Given the description of an element on the screen output the (x, y) to click on. 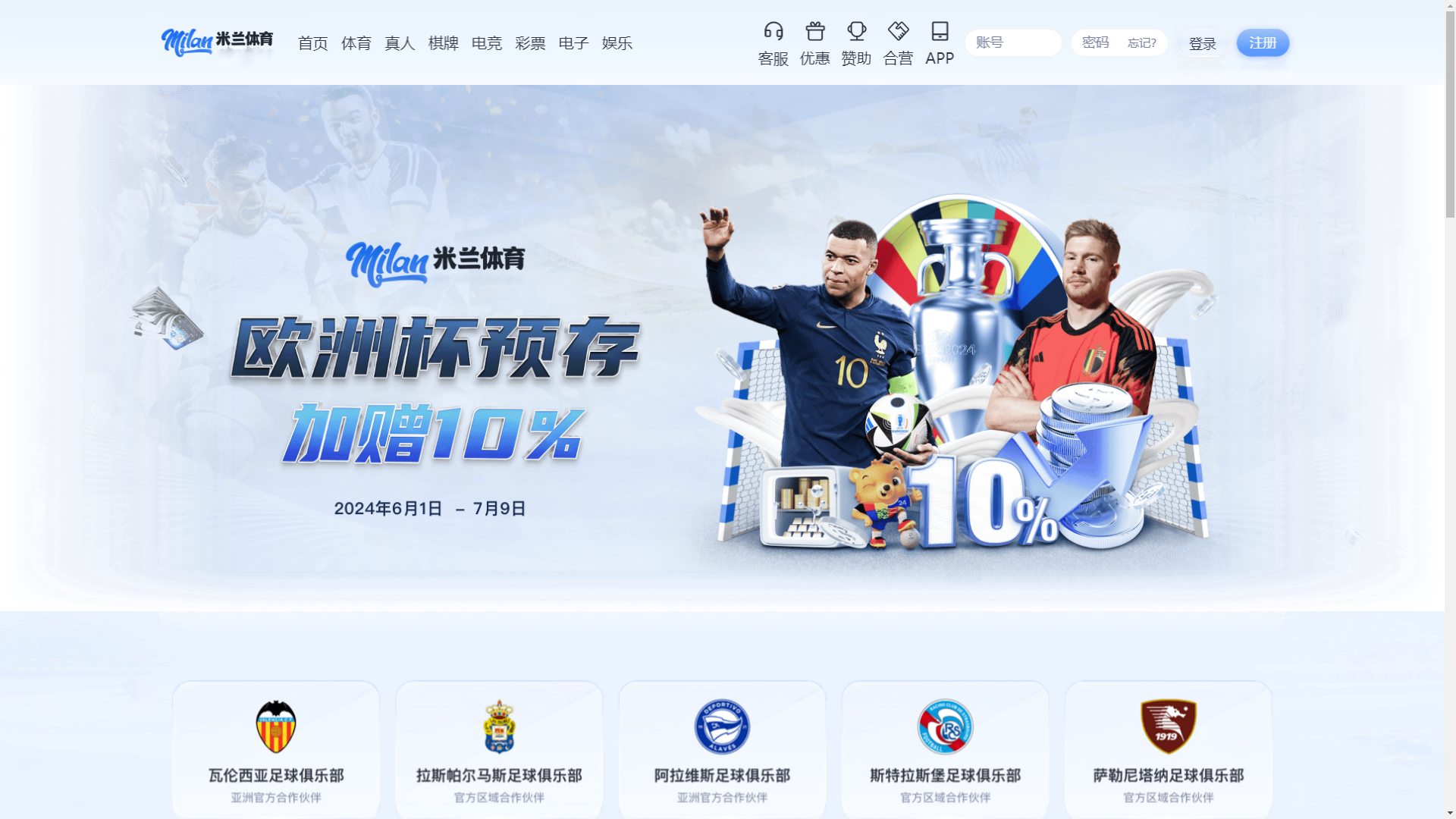
Solutions (352, 84)
Schedule Demo (1214, 31)
